Given the description of an element on the screen output the (x, y) to click on. 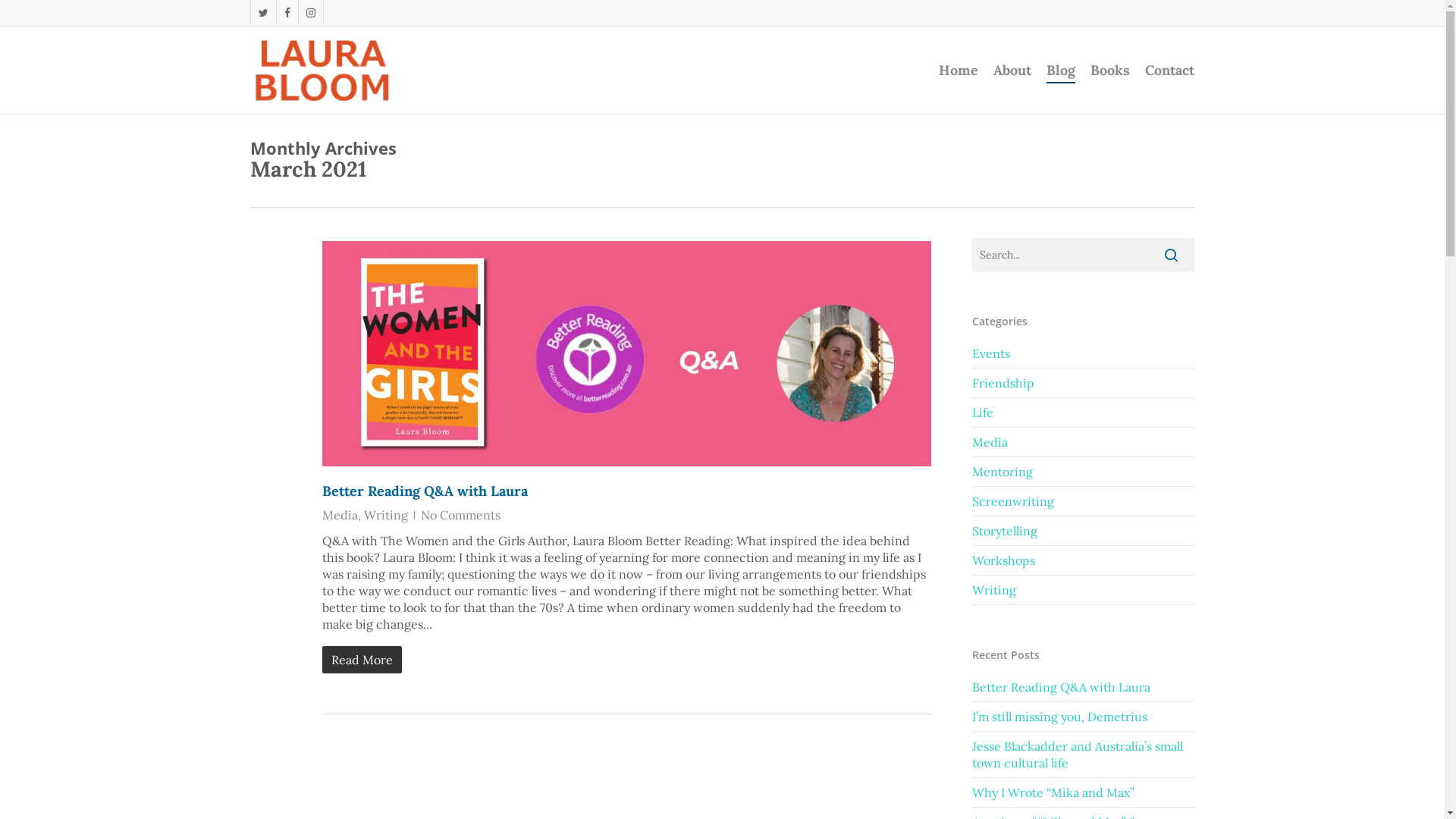
twitter Element type: text (263, 12)
Better Reading Q&A with Laura Element type: text (1083, 686)
Books Element type: text (1109, 70)
Life Element type: text (1083, 412)
facebook Element type: text (287, 12)
Writing Element type: text (385, 514)
Writing Element type: text (1083, 590)
Media Element type: text (339, 514)
Screenwriting Element type: text (1083, 501)
Workshops Element type: text (1083, 560)
No Comments Element type: text (460, 514)
Storytelling Element type: text (1083, 531)
About Element type: text (1012, 70)
Events Element type: text (1083, 356)
Search for: Element type: hover (1083, 254)
Home Element type: text (958, 70)
Better Reading Q&A with Laura Element type: text (424, 490)
Friendship Element type: text (1083, 383)
Read More Element type: text (626, 659)
instagram Element type: text (310, 12)
Blog Element type: text (1060, 70)
Media Element type: text (1083, 442)
Mentoring Element type: text (1083, 471)
Contact Element type: text (1169, 70)
